Given the description of an element on the screen output the (x, y) to click on. 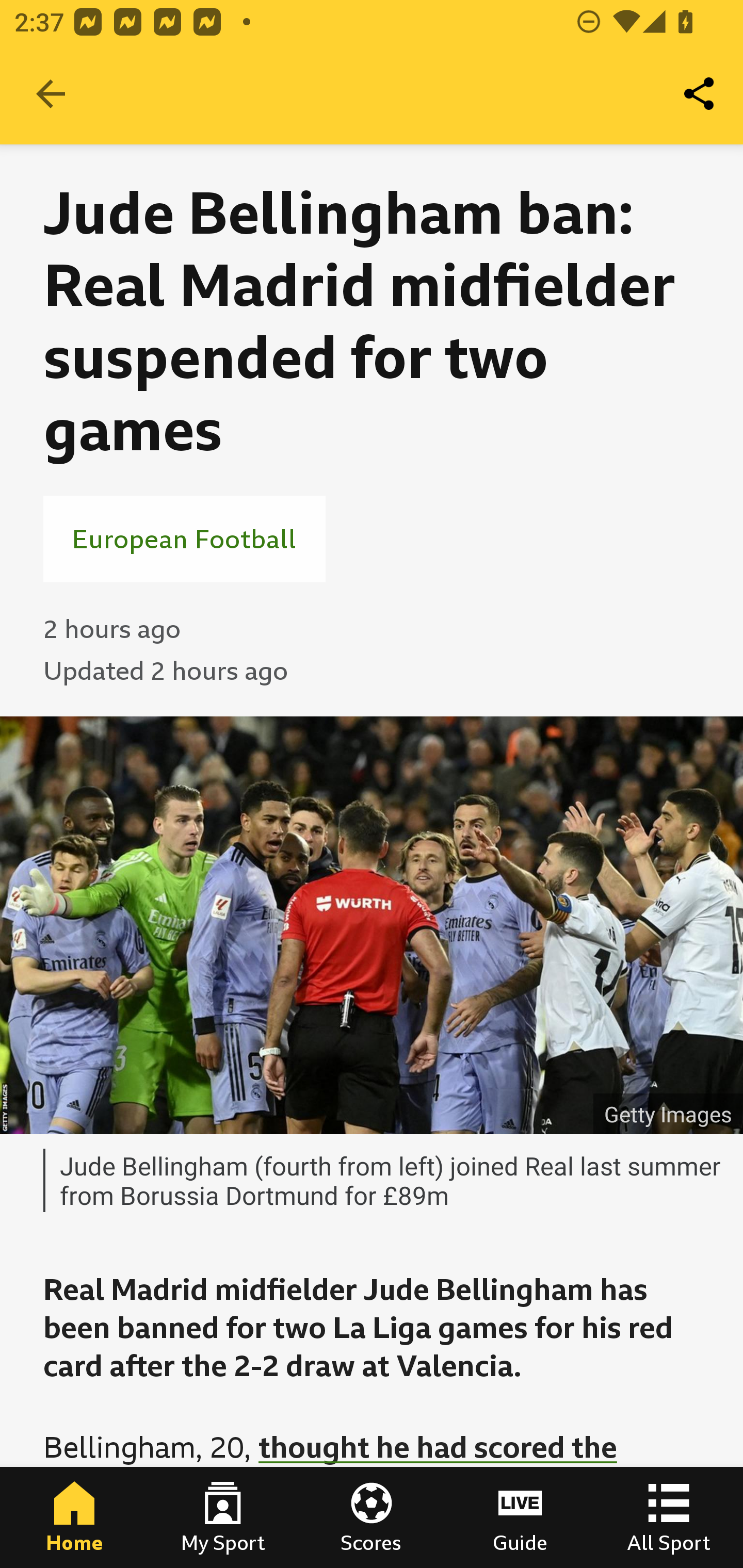
Navigate up (50, 93)
Share (699, 93)
European Football (184, 538)
My Sport (222, 1517)
Scores (371, 1517)
Guide (519, 1517)
All Sport (668, 1517)
